Given the description of an element on the screen output the (x, y) to click on. 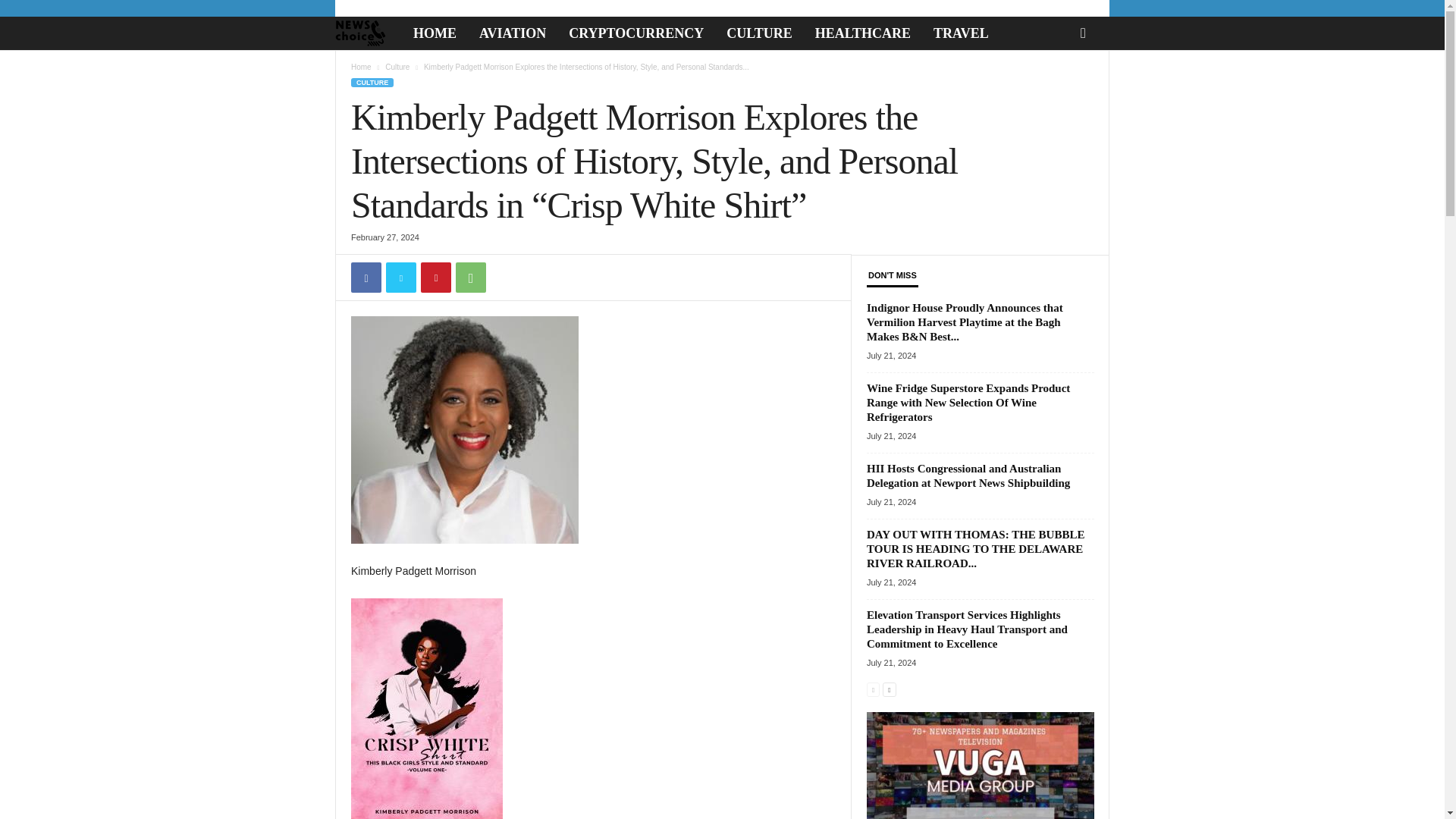
CULTURE (758, 32)
AVIATION (512, 32)
Twitter (400, 277)
News Choice (367, 33)
Home (360, 67)
Facebook (365, 277)
TRAVEL (960, 32)
HEALTHCARE (862, 32)
Culture (397, 67)
WhatsApp (470, 277)
View all posts in Culture (397, 67)
Pinterest (435, 277)
CULTURE (371, 81)
News Choice (359, 32)
CRYPTOCURRENCY (635, 32)
